Given the description of an element on the screen output the (x, y) to click on. 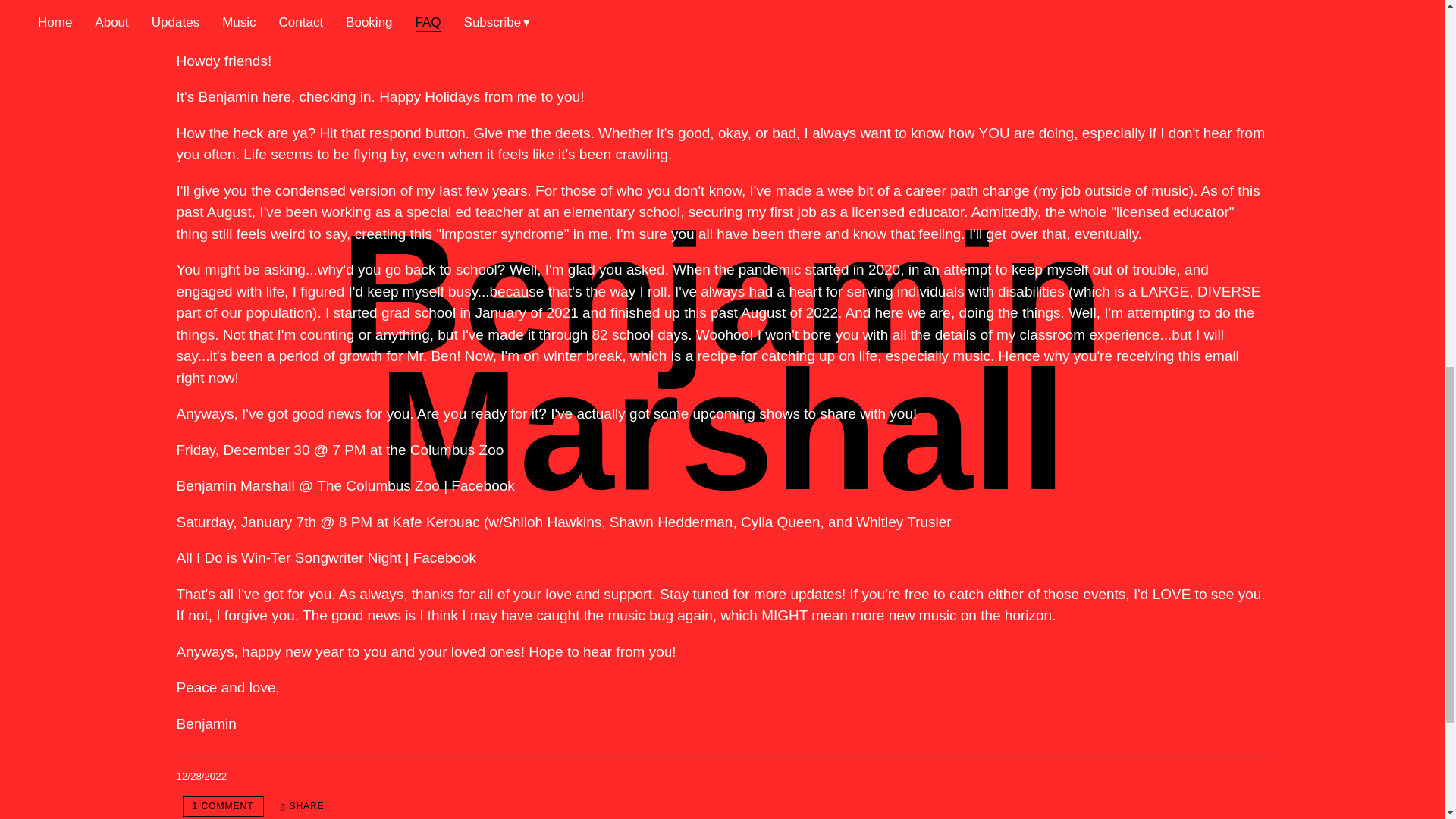
1 COMMENT (222, 806)
Share Aloha from Benjamin (302, 805)
SHARE (302, 805)
December 28, 2022 13:55 (201, 776)
1 comment (222, 806)
